Given the description of an element on the screen output the (x, y) to click on. 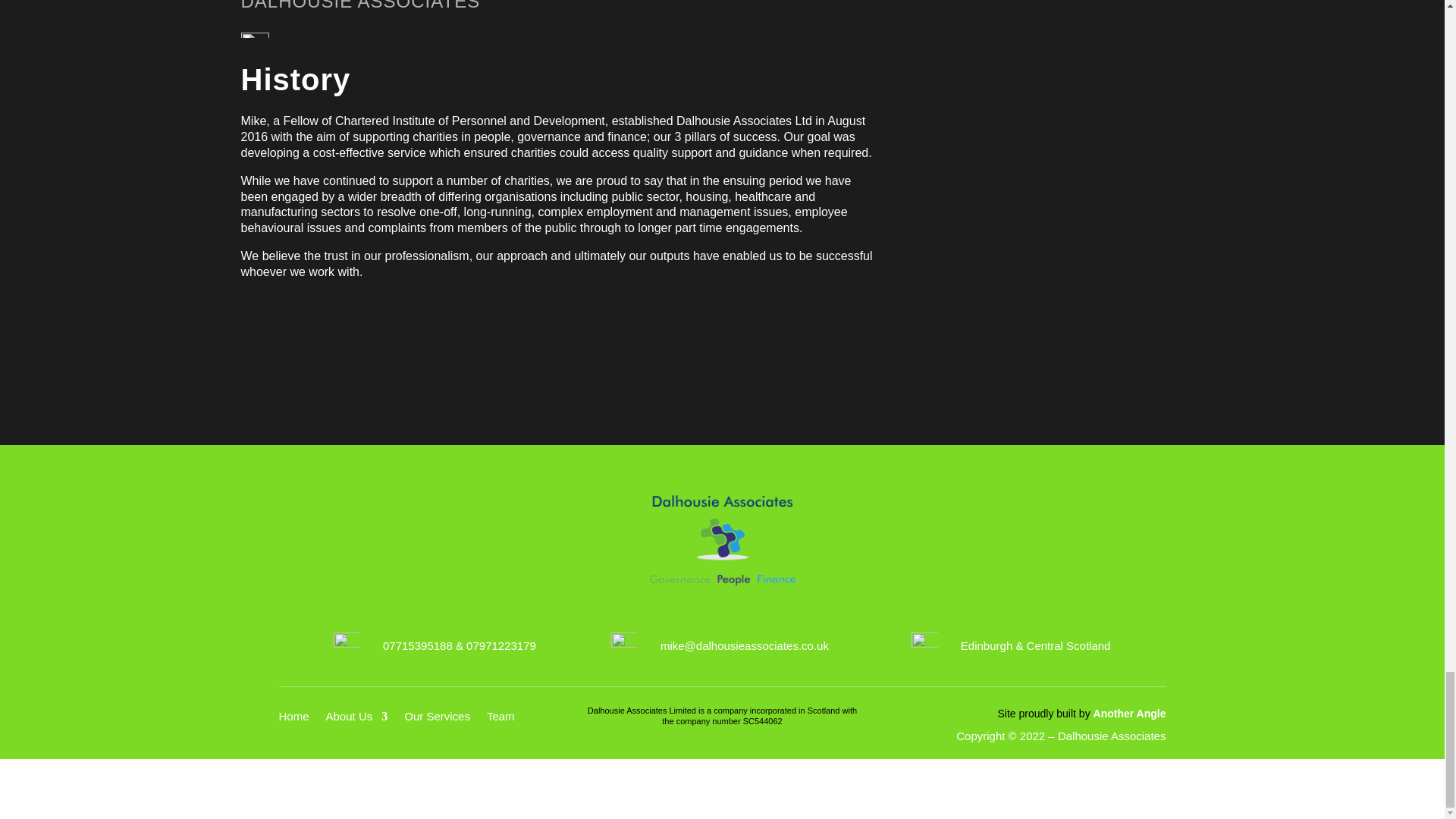
About Us (357, 719)
Another Angle (1129, 713)
Team (500, 719)
Logo DA Transparent (721, 540)
Our Services (437, 719)
Home (293, 719)
